Given the description of an element on the screen output the (x, y) to click on. 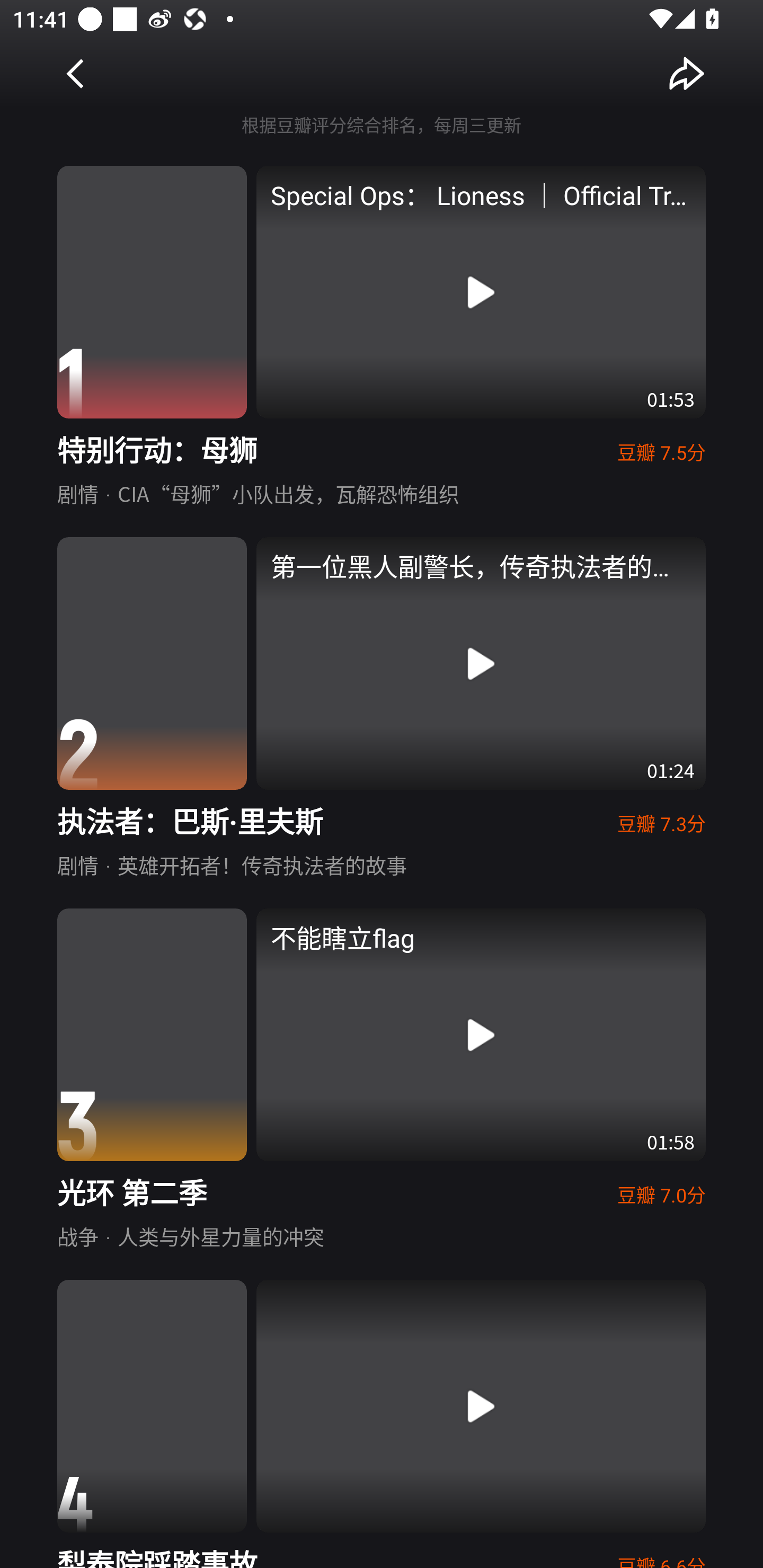
 返回 (76, 72)
 分享 (686, 72)
剧情 (77, 493)
CIA“母狮”小队出发，瓦解恐怖组织 (288, 493)
剧情 (77, 864)
英雄开拓者！传奇执法者的故事 (261, 864)
战争 (77, 1235)
人类与外星力量的冲突 (220, 1235)
